Given the description of an element on the screen output the (x, y) to click on. 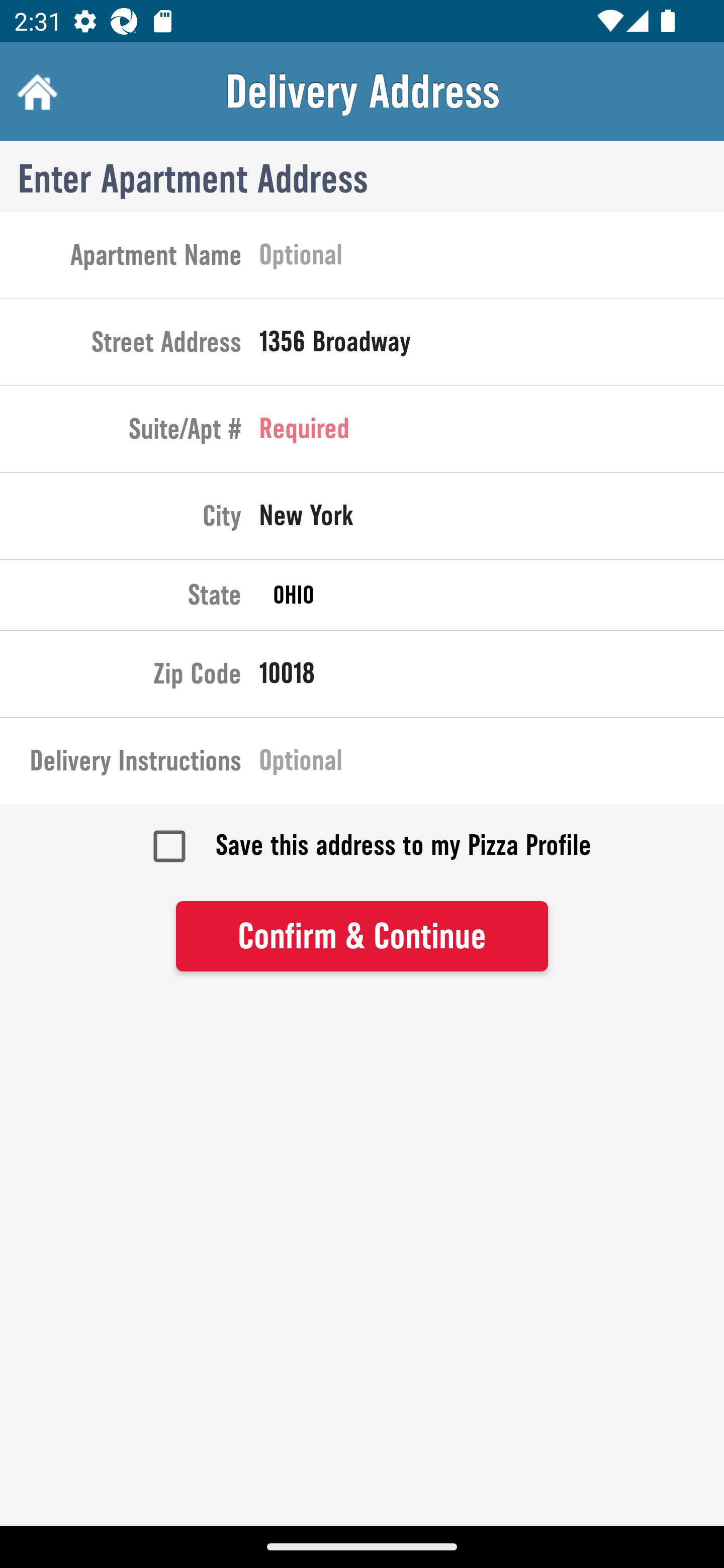
Home (35, 91)
Optional (491, 258)
1356 Broadway (491, 345)
Required (491, 432)
New York (491, 519)
OHIO (491, 594)
10018 (491, 677)
Optional (491, 764)
Confirm & Continue (361, 936)
